Given the description of an element on the screen output the (x, y) to click on. 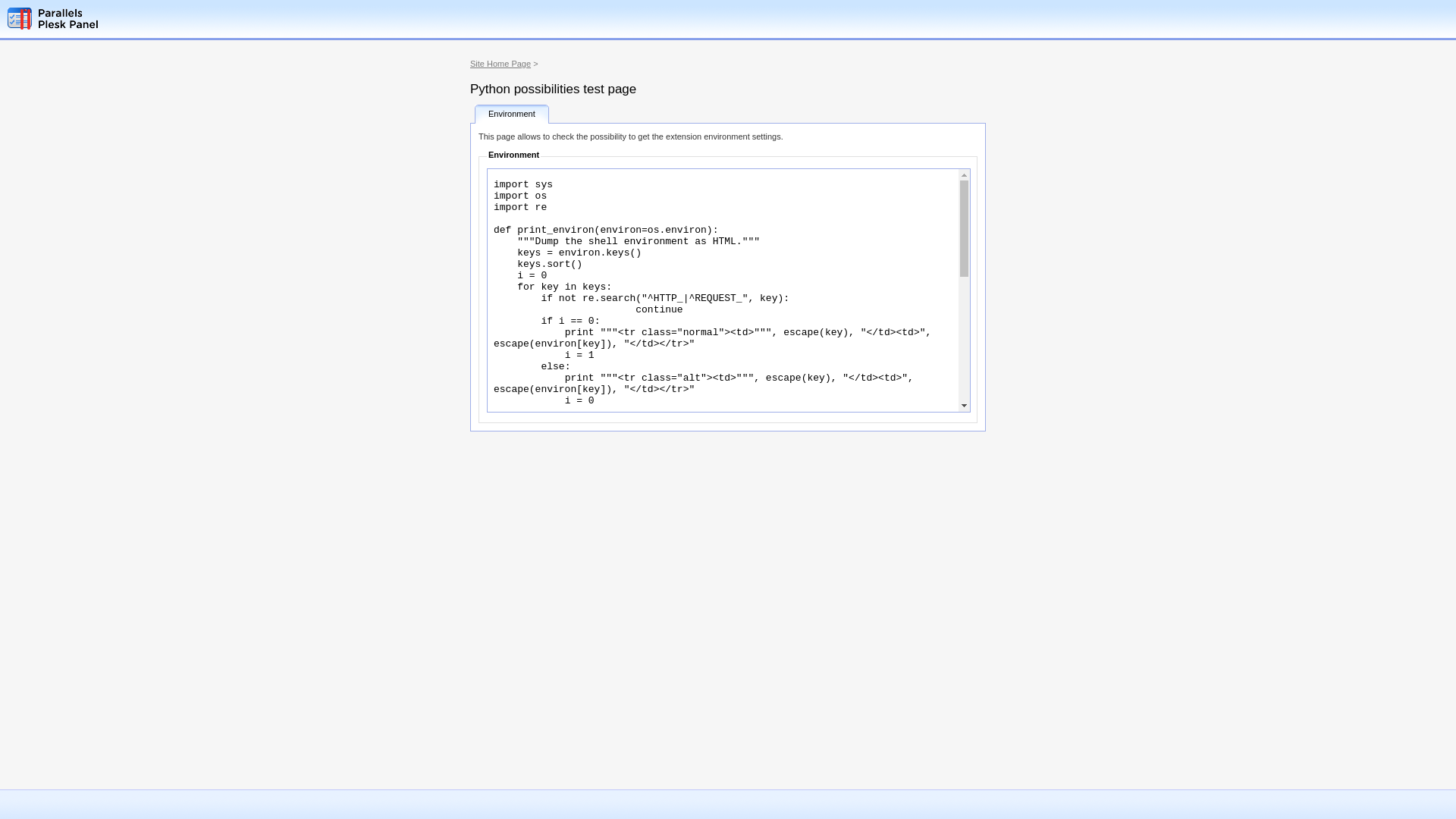
Parallels Plesk Panel Element type: text (79, 18)
Site Home Page Element type: text (500, 63)
Environment Element type: text (511, 113)
